Given the description of an element on the screen output the (x, y) to click on. 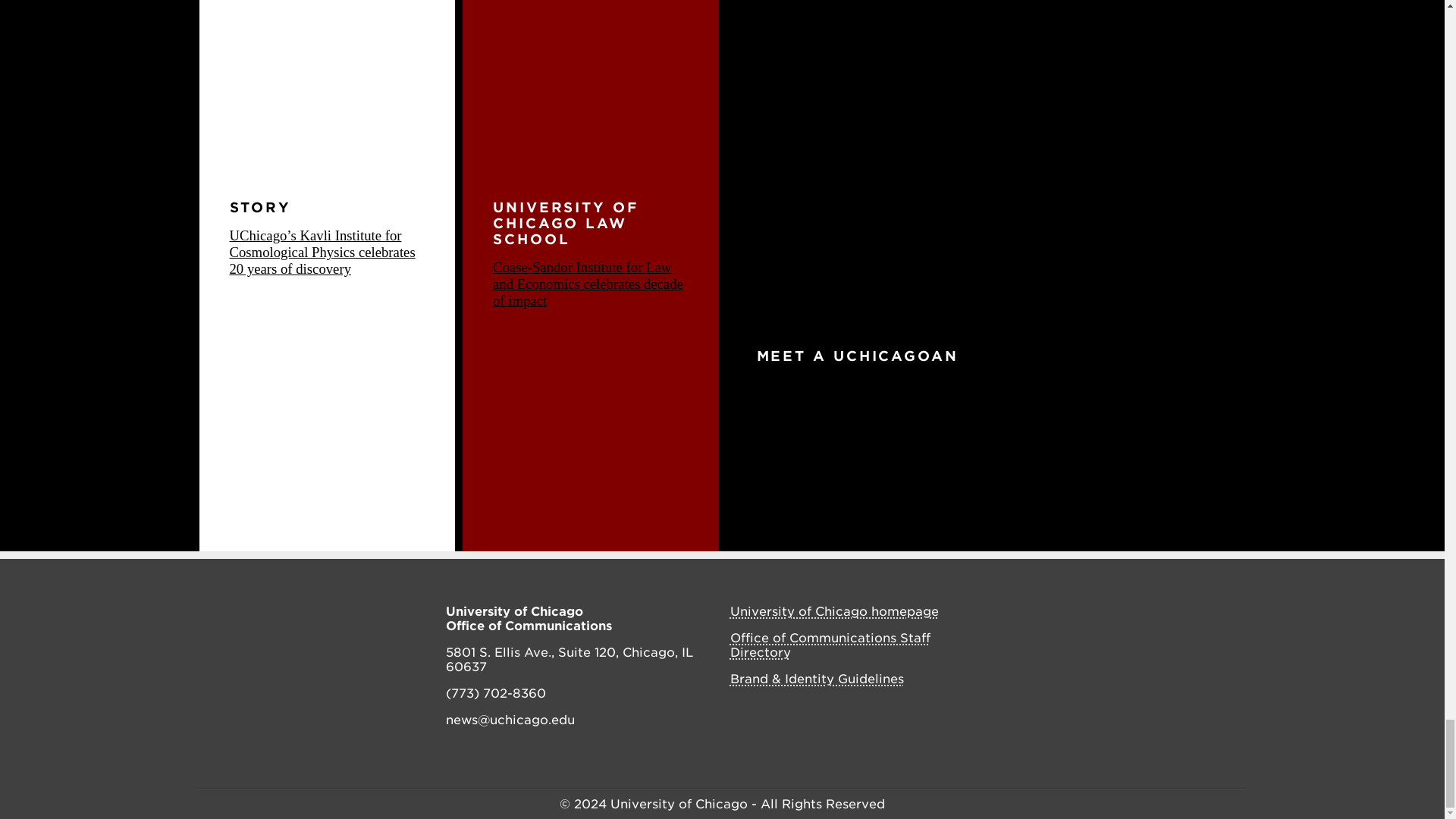
Connect with UChicago on Youtube (1214, 613)
Connect with UChicago on Linkedin (1181, 613)
Organist pulls out all the stops to bring Bach to UChicago (970, 449)
Connect with UChicago on Instagram (1112, 613)
University of Chicago homepage (833, 611)
Connect with UChicago on Facebook (1081, 613)
Connect with UChicago on Twitter (1146, 613)
Office of Communications Staff Directory (829, 645)
